Given the description of an element on the screen output the (x, y) to click on. 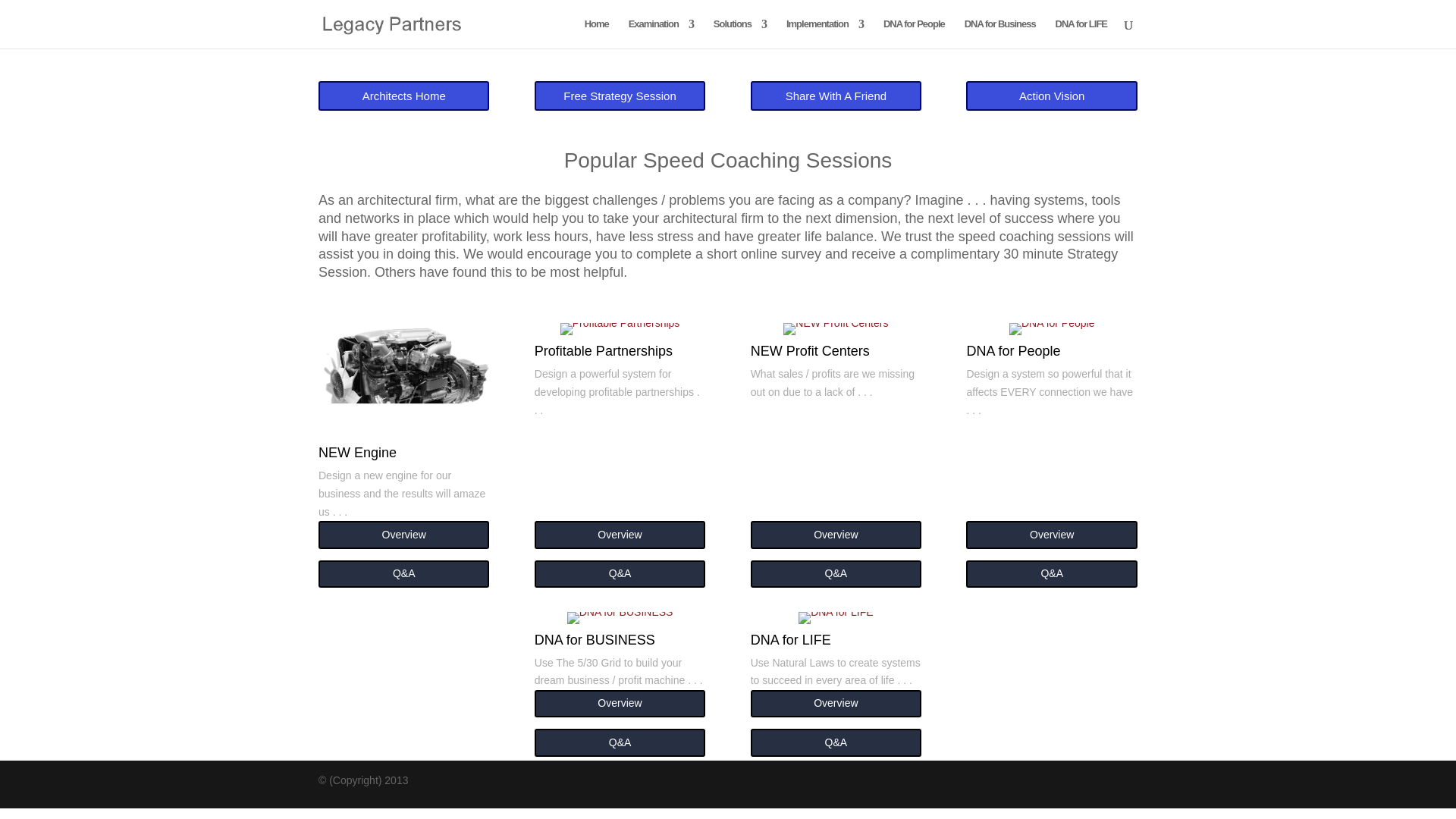
Overview (836, 703)
Overview (1051, 533)
Solutions (740, 33)
Overview (619, 703)
DNA for LIFE (1080, 33)
Overview (403, 533)
Action Vision (1051, 95)
DNA for Business (999, 33)
Free Strategy Session (619, 95)
Share With A Friend (836, 95)
